Given the description of an element on the screen output the (x, y) to click on. 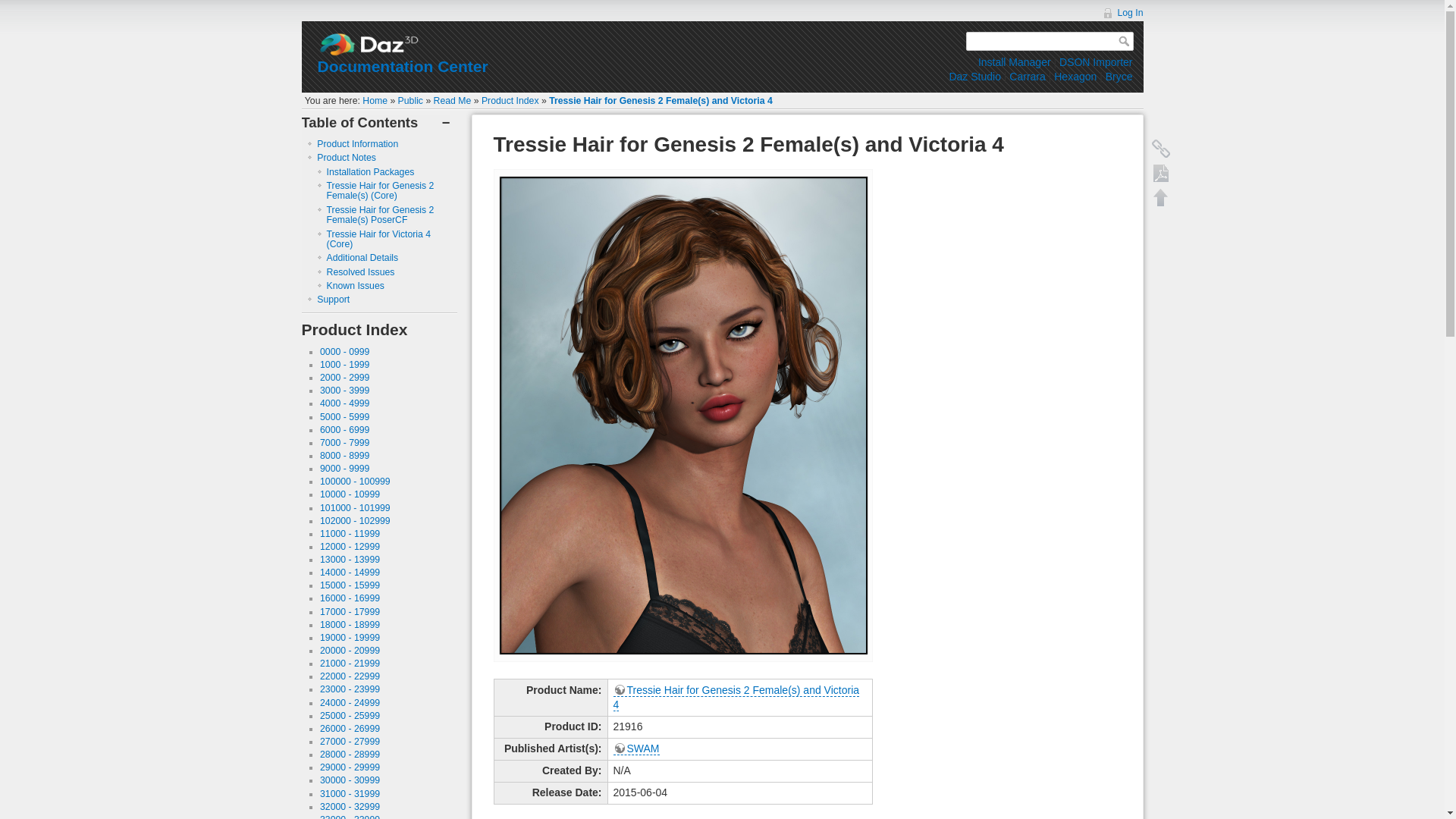
Support (333, 299)
Product Information (357, 143)
8000 - 8999 (344, 455)
Additional Details (362, 257)
Log In (1122, 12)
Log In (1122, 12)
7000 - 7999 (344, 442)
3000 - 3999 (344, 389)
0000 - 0999 (344, 351)
Public (410, 100)
Product Notes (346, 157)
public:start (410, 100)
1000 - 1999 (344, 364)
2000 - 2999 (344, 377)
4000 - 4999 (344, 403)
